Given the description of an element on the screen output the (x, y) to click on. 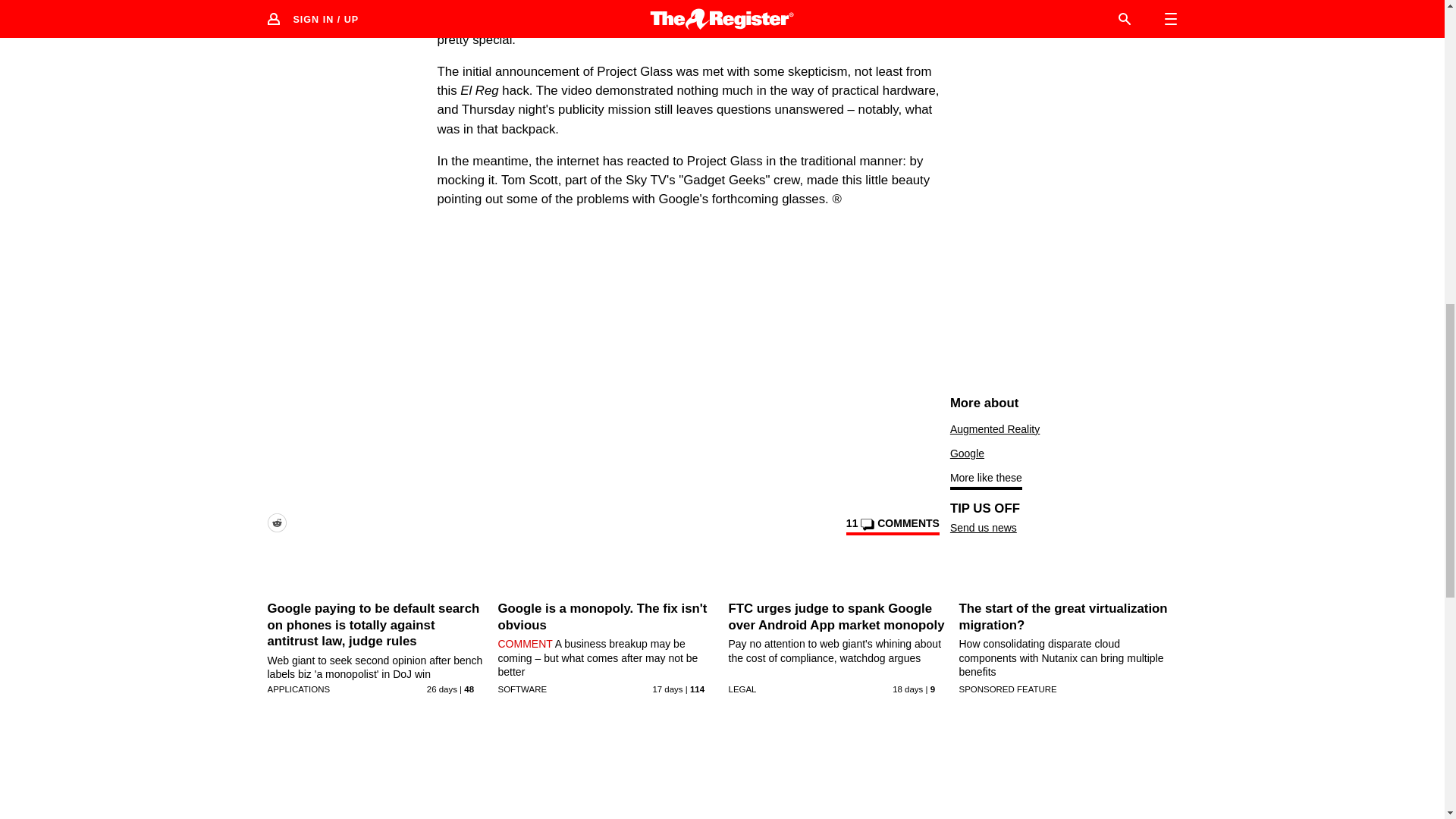
13 Aug 2024 19:15 (907, 688)
15 Aug 2024 11:28 (667, 688)
View comments on this article (892, 525)
5 Aug 2024 21:58 (441, 688)
